Given the description of an element on the screen output the (x, y) to click on. 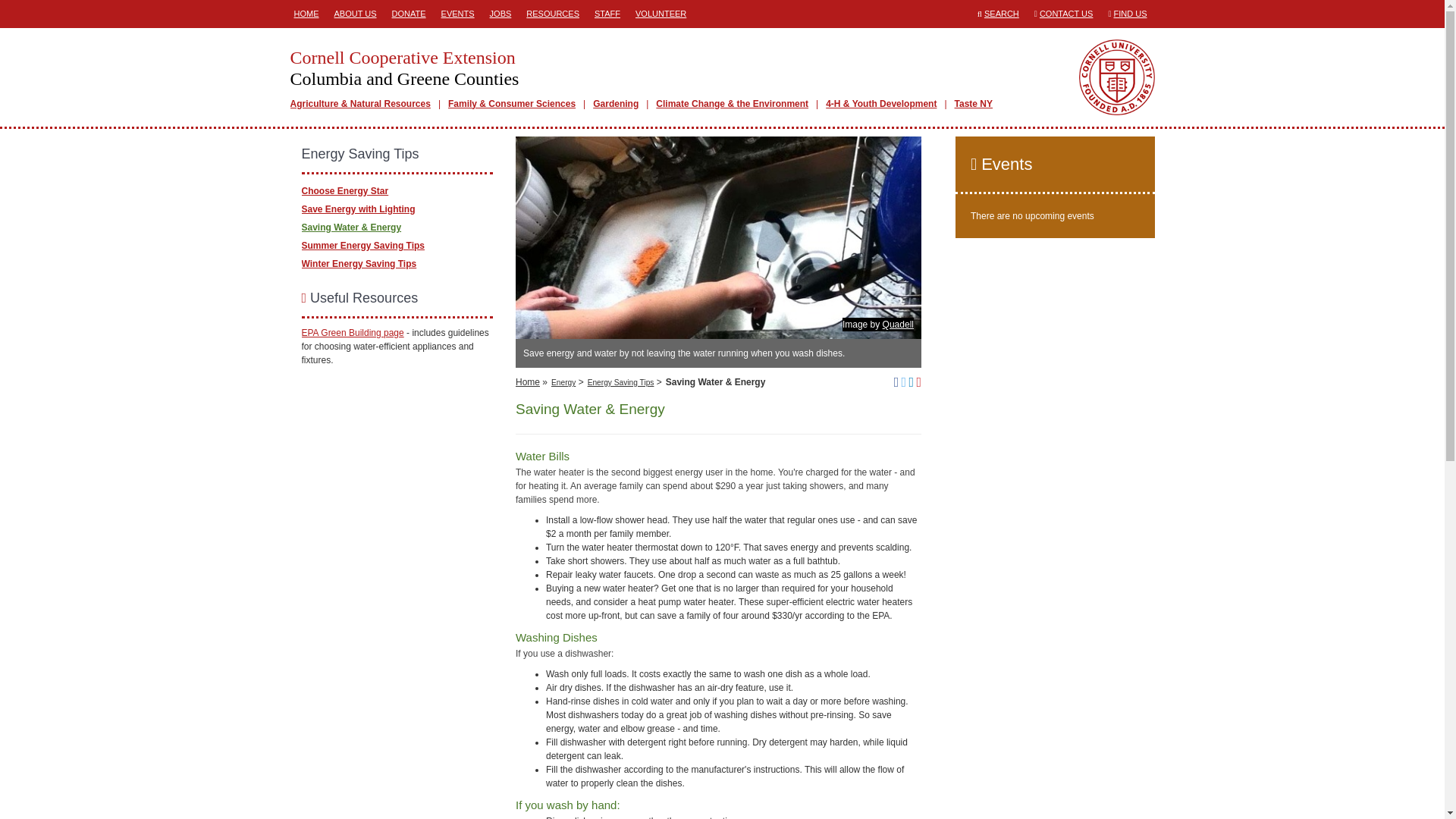
EPA Green Building page (352, 332)
VOLUNTEER (660, 13)
Summer Energy Saving Tips (363, 244)
Quadell (898, 324)
DONATE (408, 13)
RESOURCES (552, 13)
JOBS (500, 13)
Home (527, 381)
Save Energy with Lighting (357, 208)
SEARCH (1001, 13)
CONTACT US (1066, 13)
Choose Energy Star (344, 190)
Events (1054, 163)
Gardening (615, 103)
FIND US (1130, 13)
